Given the description of an element on the screen output the (x, y) to click on. 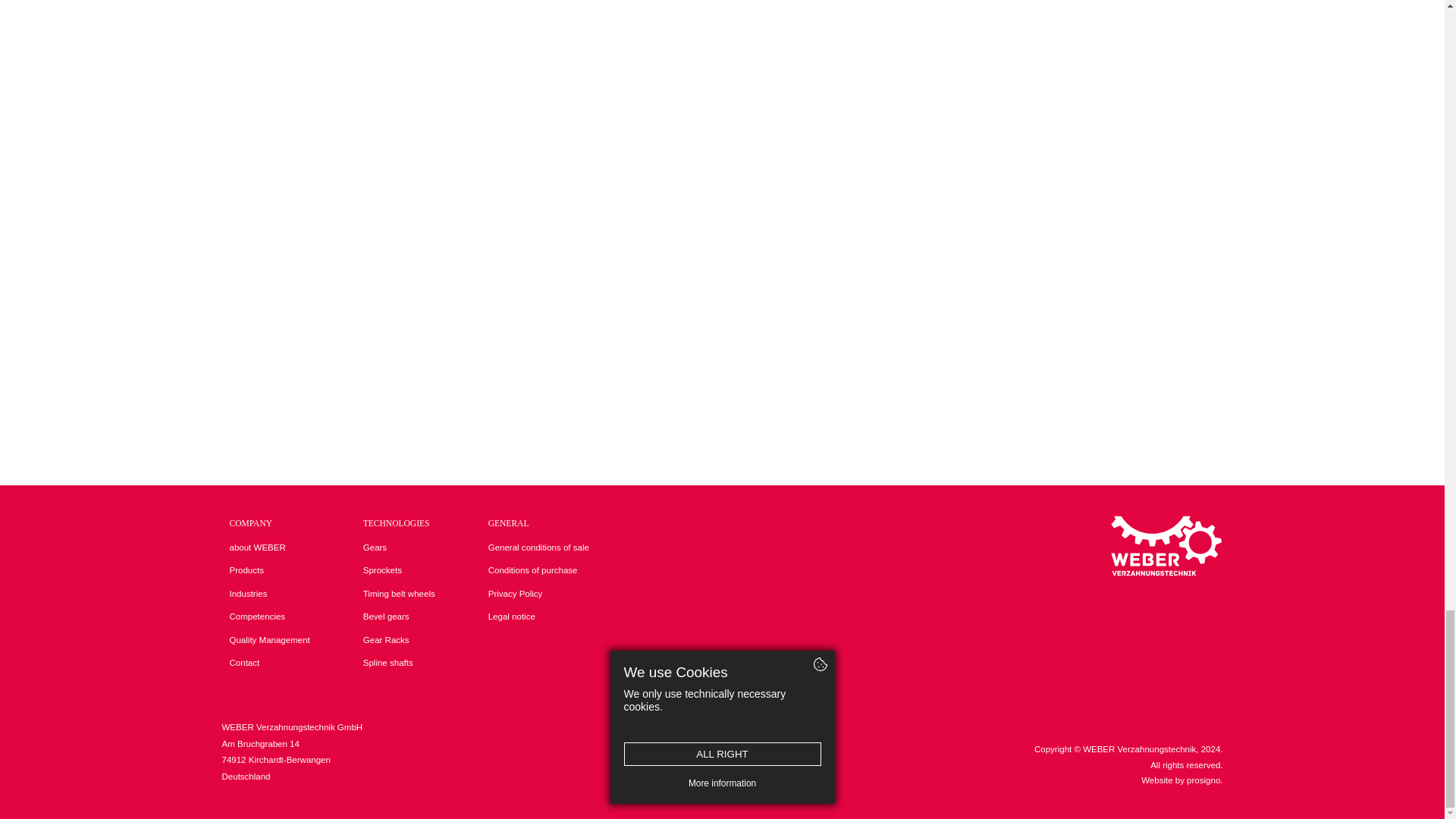
about WEBER (269, 548)
Internetagentur prosigno (1203, 779)
Industries (269, 594)
Competencies (269, 617)
Products (269, 571)
Quality Management (269, 640)
Contact (269, 663)
